Given the description of an element on the screen output the (x, y) to click on. 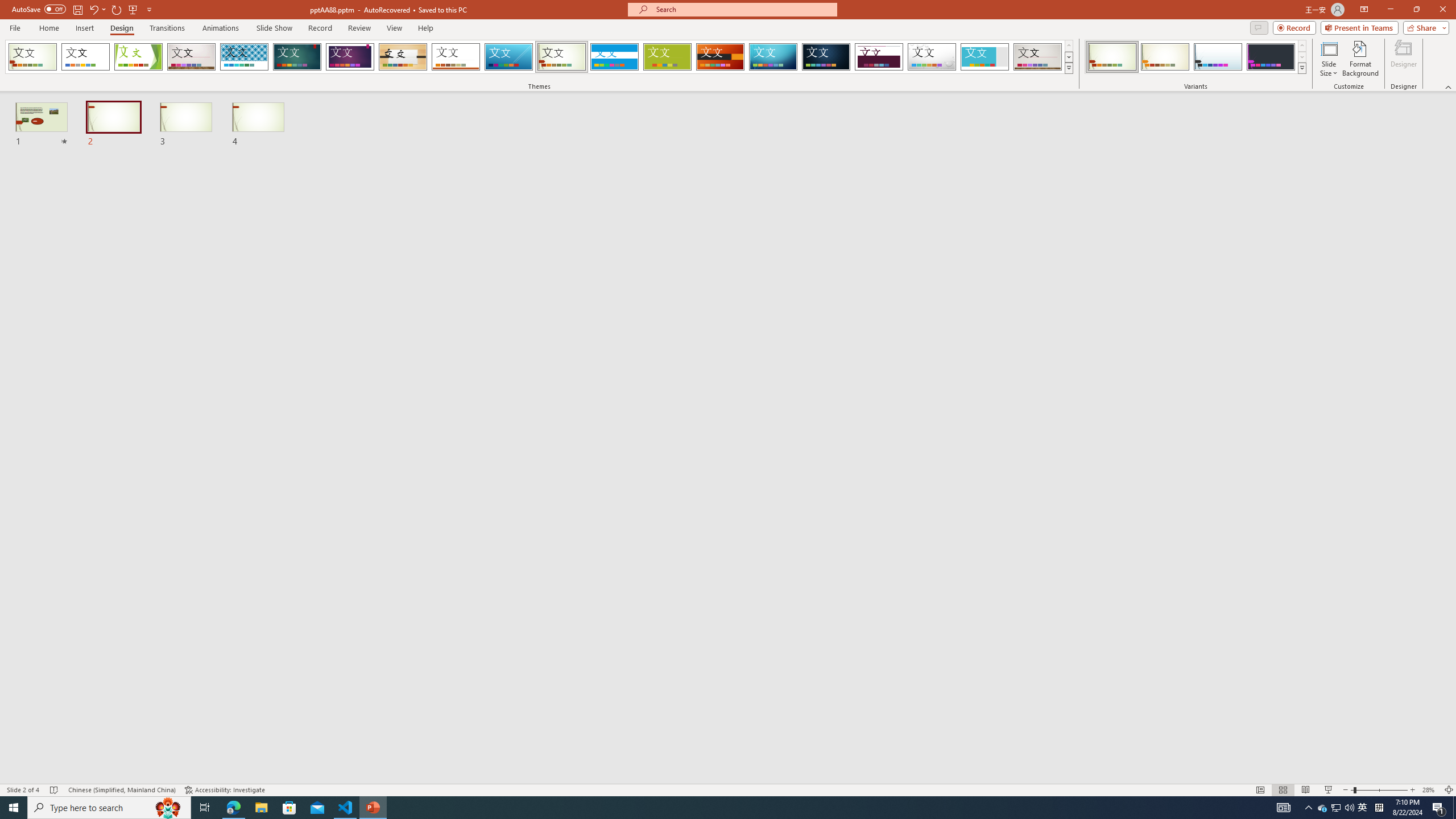
Office Theme (85, 56)
Ion Boardroom Loading Preview... (350, 56)
Zoom 28% (1430, 790)
Slice Loading Preview... (508, 56)
AutomationID: ThemeVariantsGallery (1195, 56)
Wisp Variant 2 (1164, 56)
Wisp Variant 1 (1112, 56)
Droplet Loading Preview... (931, 56)
